Given the description of an element on the screen output the (x, y) to click on. 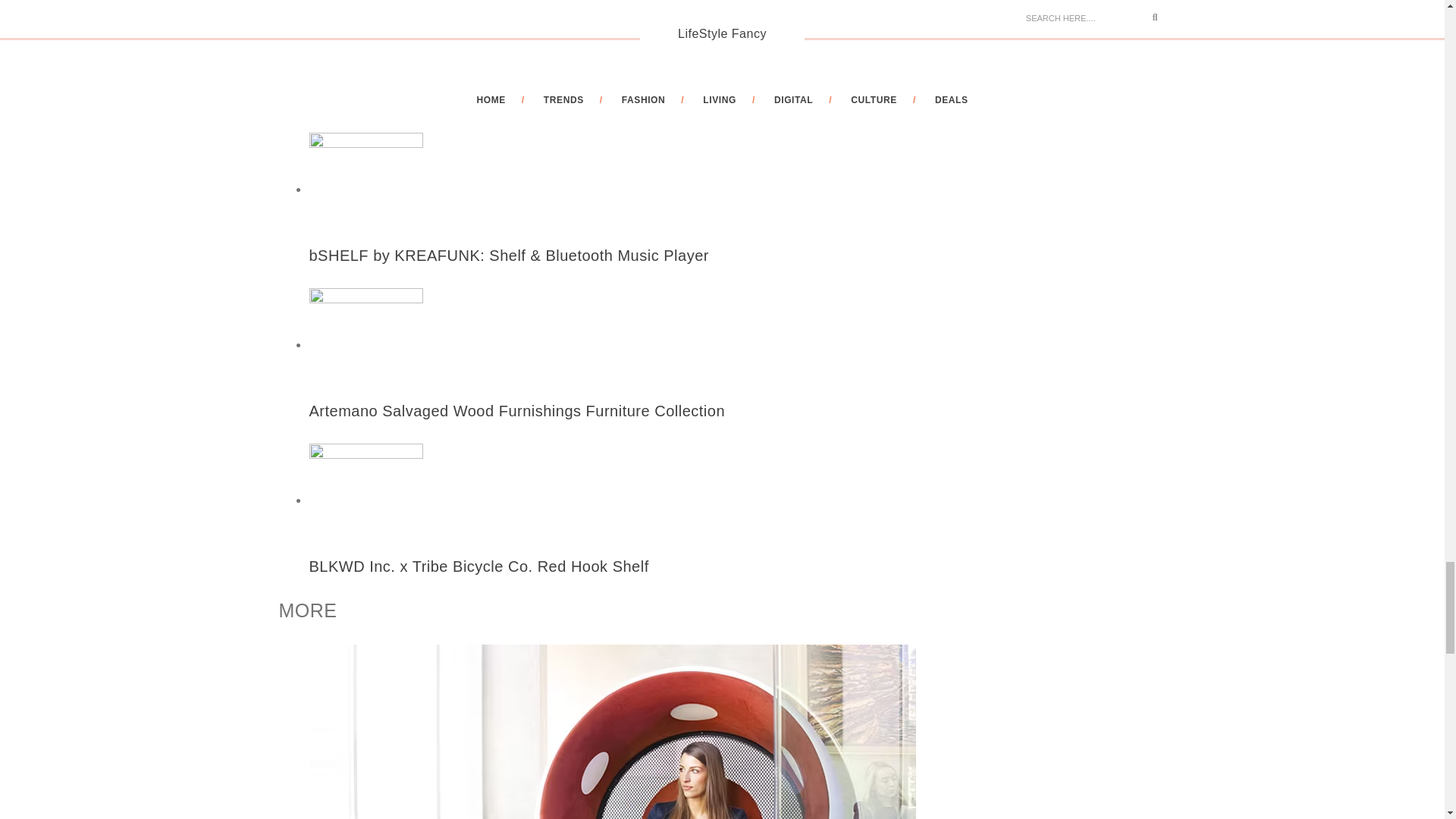
Artemano Salvaged Wood Furnishings Furniture Collection (615, 378)
Byer of Maine Weatherproof Wooden Furniture (615, 67)
Byer of Maine Weatherproof Wooden Furniture (615, 67)
Artemano Salvaged Wood Furnishings Furniture Collection (615, 378)
BLKWD Inc. x Tribe Bicycle Co. Red Hook Shelf (615, 534)
BLKWD Inc. x Tribe Bicycle Co. Red Hook Shelf (615, 534)
